Given the description of an element on the screen output the (x, y) to click on. 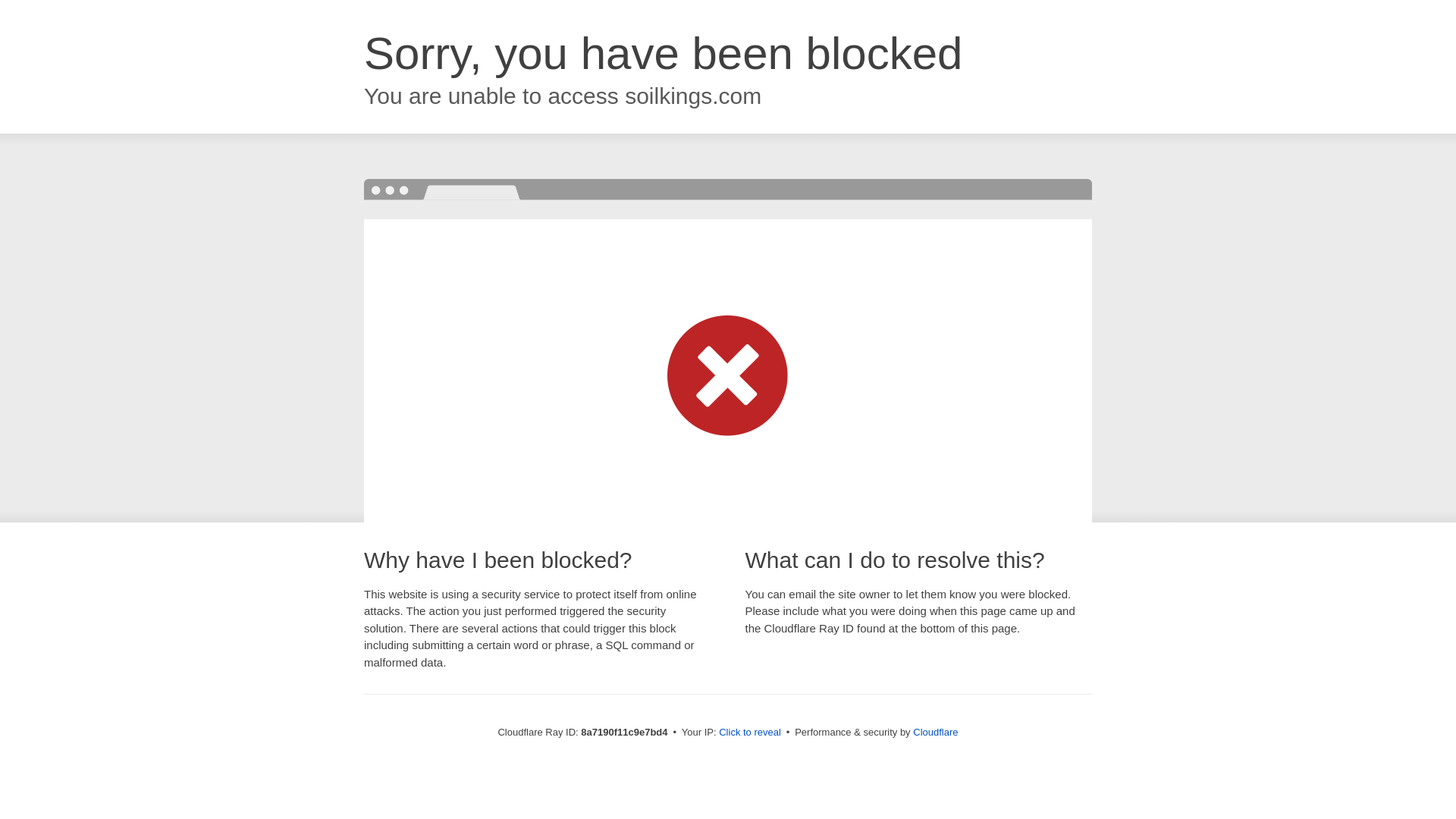
Cloudflare (935, 731)
Click to reveal (749, 732)
